Given the description of an element on the screen output the (x, y) to click on. 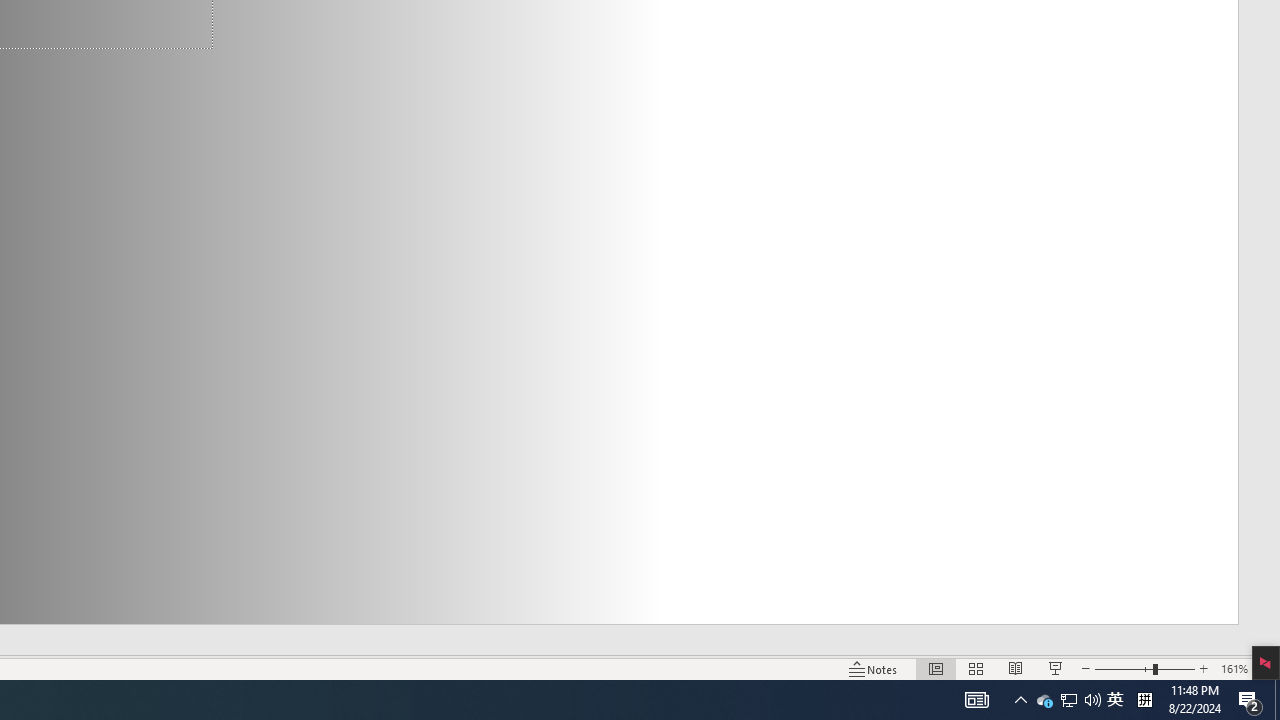
Zoom 161% (1234, 668)
